Given the description of an element on the screen output the (x, y) to click on. 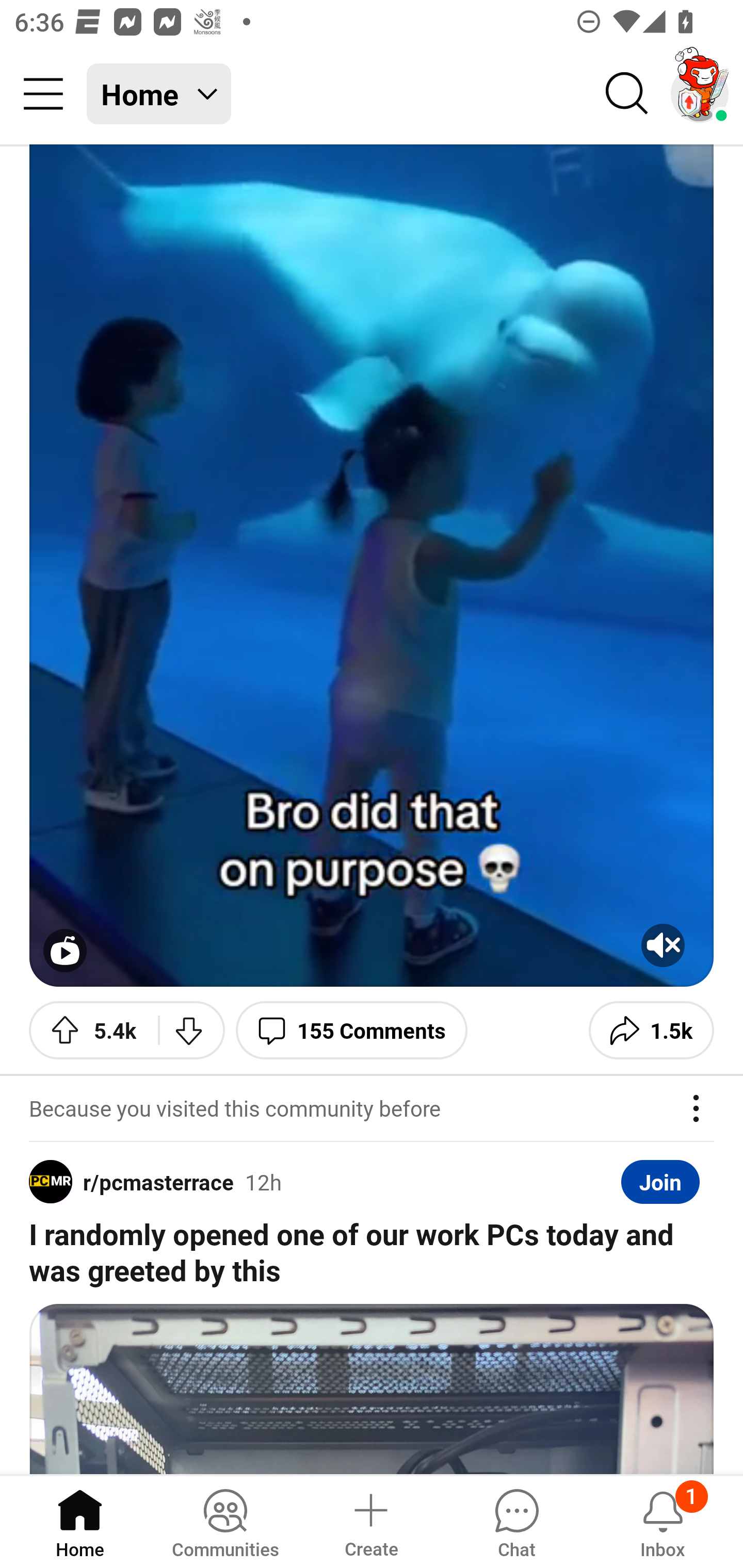
Community menu (43, 93)
Home Home feed (158, 93)
Search (626, 93)
TestAppium002 account (699, 93)
Unmute (371, 565)
Unmute (663, 945)
Home (80, 1520)
Communities (225, 1520)
Create a post Create (370, 1520)
Chat (516, 1520)
Inbox, has 1 notification 1 Inbox (662, 1520)
